Given the description of an element on the screen output the (x, y) to click on. 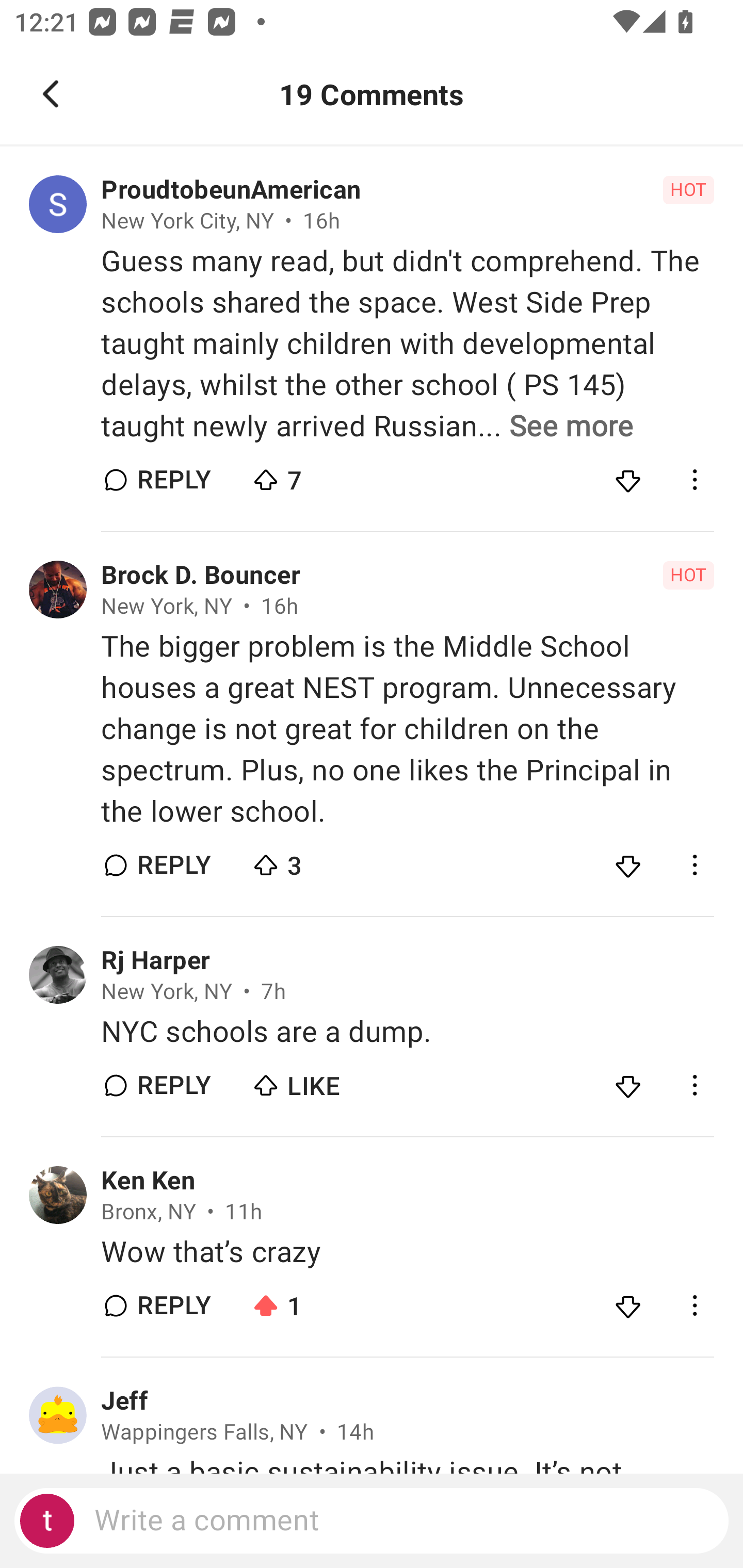
Navigate up (50, 93)
ProudtobeunAmerican (231, 190)
7 (320, 475)
REPLY (173, 480)
Brock D. Bouncer (200, 575)
3 (320, 860)
REPLY (173, 864)
Rj Harper (155, 960)
NYC schools are a dump. (407, 1031)
LIKE (320, 1080)
REPLY (173, 1085)
Ken Ken (148, 1180)
Wow that’s crazy (407, 1252)
1 (320, 1301)
REPLY (173, 1305)
Jeff (124, 1400)
Write a comment (371, 1520)
